Given the description of an element on the screen output the (x, y) to click on. 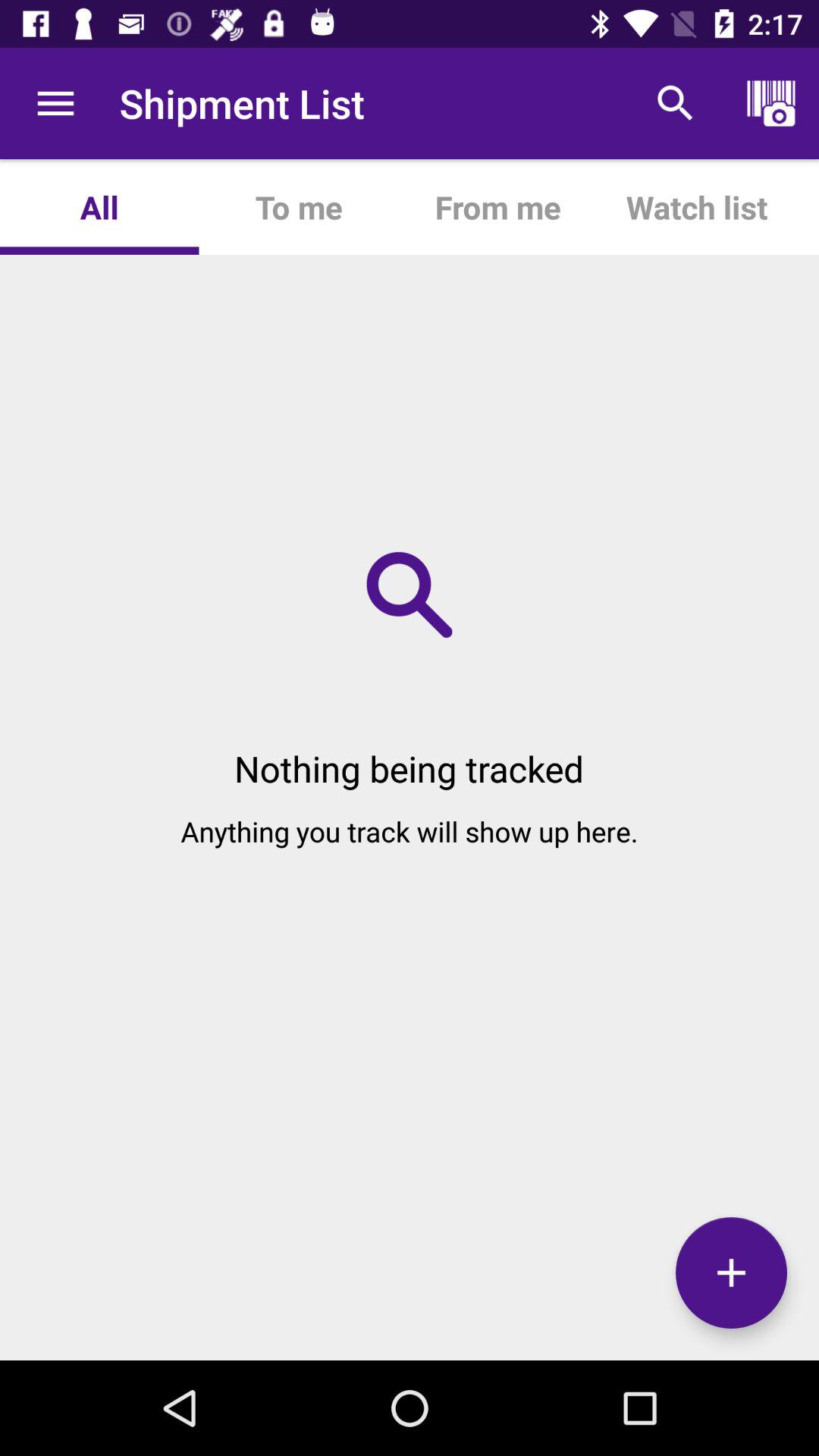
tap the icon to the right of the from me app (696, 206)
